Given the description of an element on the screen output the (x, y) to click on. 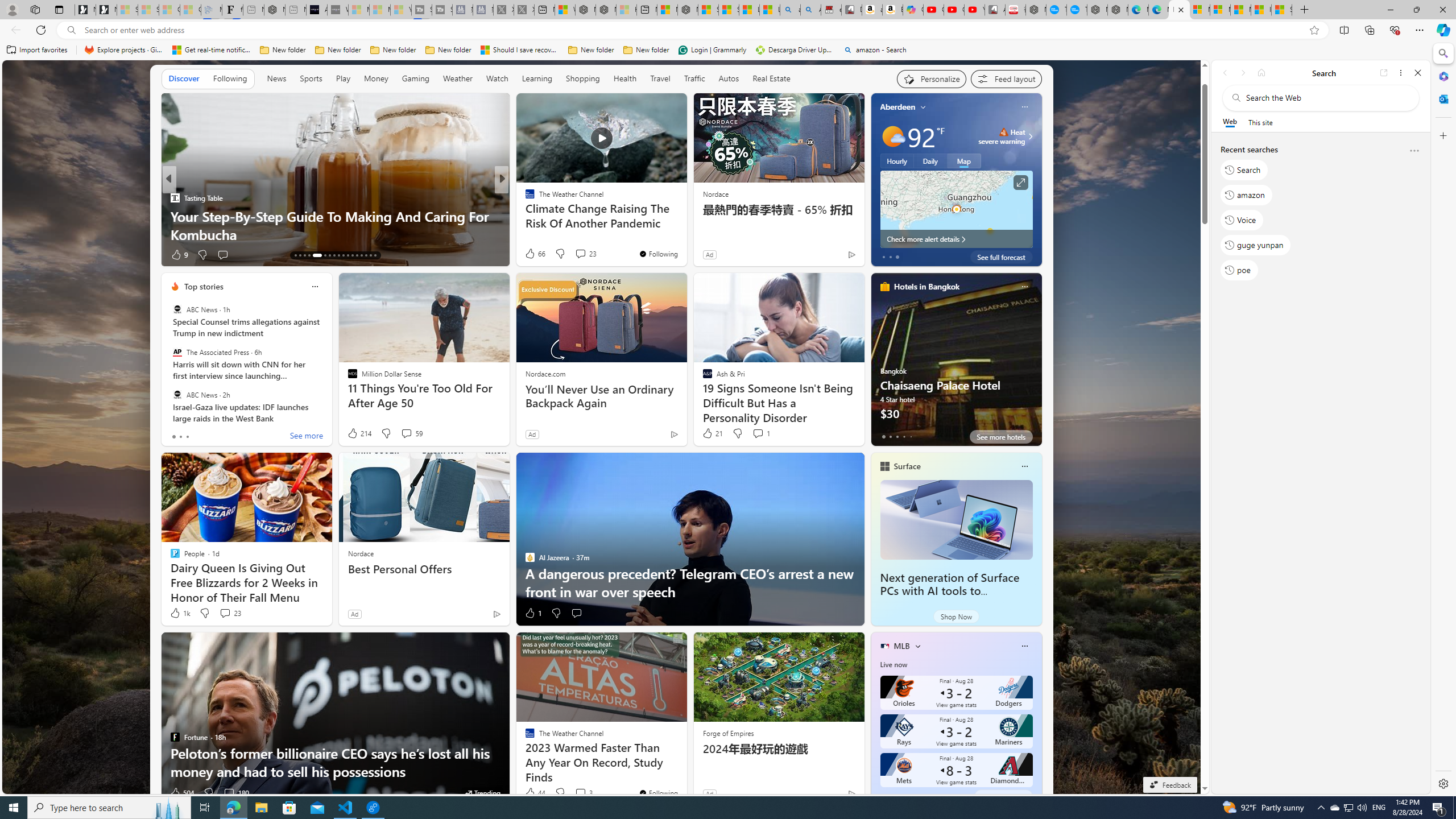
You're following The Weather Channel (657, 792)
1k Like (179, 612)
View comments 10 Comment (585, 254)
Nordace - Nordace Siena Is Not An Ordinary Backpack (687, 9)
View comments 180 Comment (235, 792)
View comments 190 Comment (587, 254)
